Given the description of an element on the screen output the (x, y) to click on. 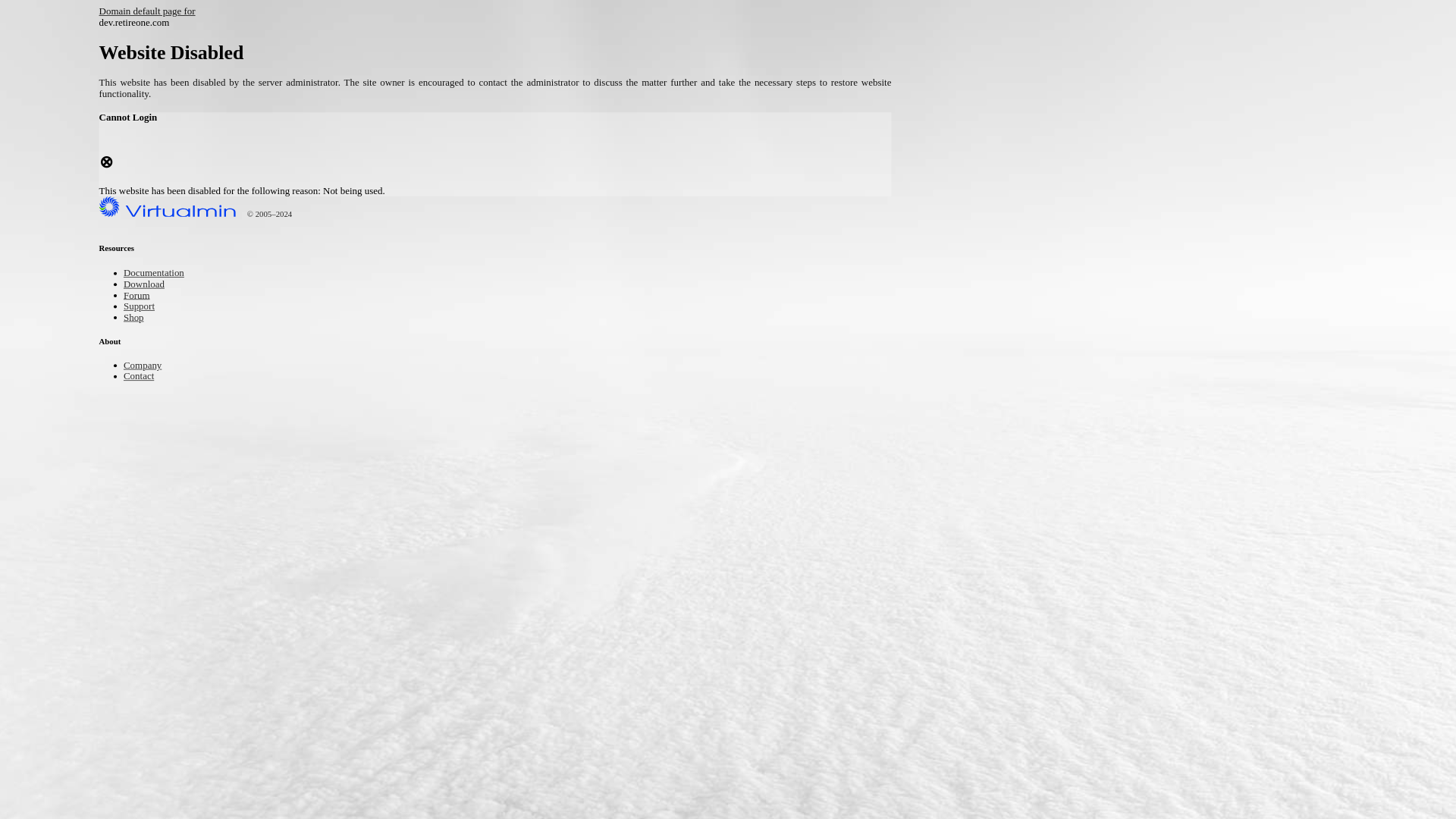
Support (142, 306)
Documentation (160, 273)
Shop (135, 318)
Domain default page for (158, 11)
Company (146, 366)
Forum (139, 295)
Contact (142, 377)
Download (148, 284)
